Given the description of an element on the screen output the (x, y) to click on. 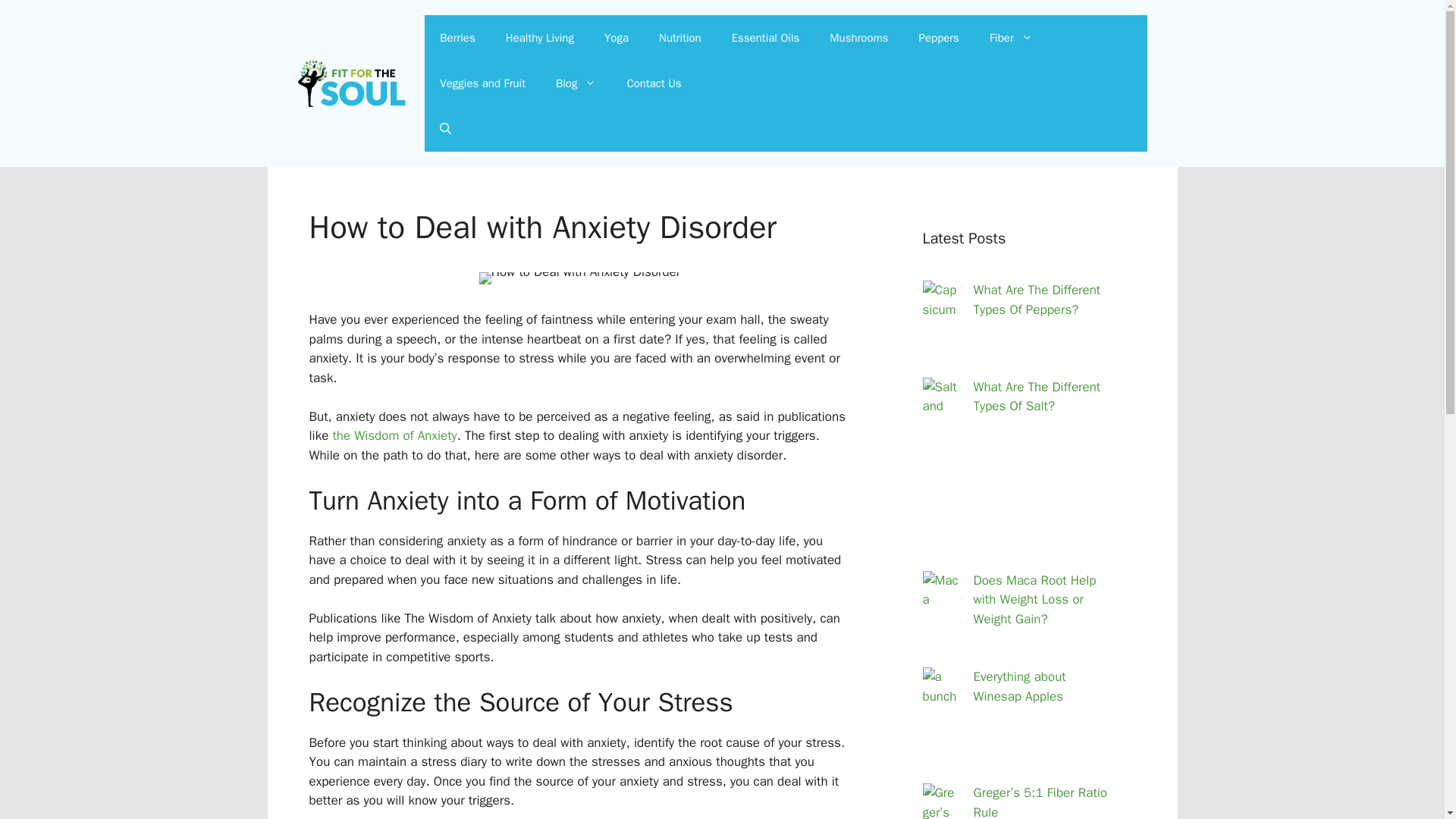
Blog (575, 83)
Essential Oils (765, 37)
Veggies and Fruit (482, 83)
Fiber (1011, 37)
Peppers (939, 37)
Contact Us (653, 83)
Nutrition (679, 37)
Yoga (616, 37)
Berries (457, 37)
Mushrooms (857, 37)
